Given the description of an element on the screen output the (x, y) to click on. 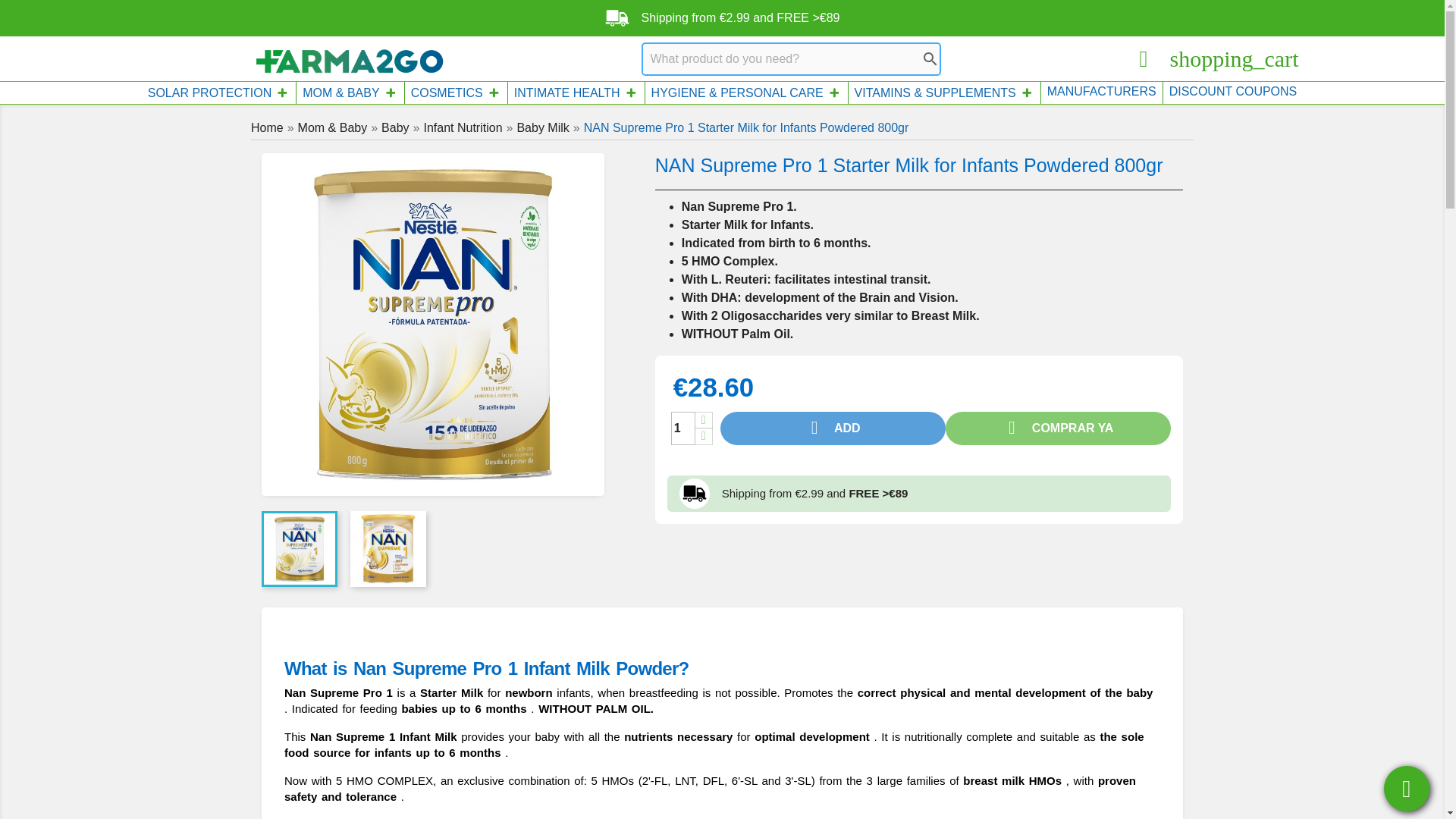
View my customer account (1150, 59)
DISCOUNT COUPONS (1233, 91)
MANUFACTURERS (1101, 91)
COSMETICS (455, 92)
NAN Supreme 1 Infant Milk Powder 800gr (433, 324)
INTIMATE HEALTH (576, 92)
NAN Supreme 1 Infant Milk Powder 800gr (299, 549)
SOLAR PROTECTION (219, 92)
NAN Supreme 1 Infant Milk Powder 800gr (388, 549)
1 (683, 427)
